Given the description of an element on the screen output the (x, y) to click on. 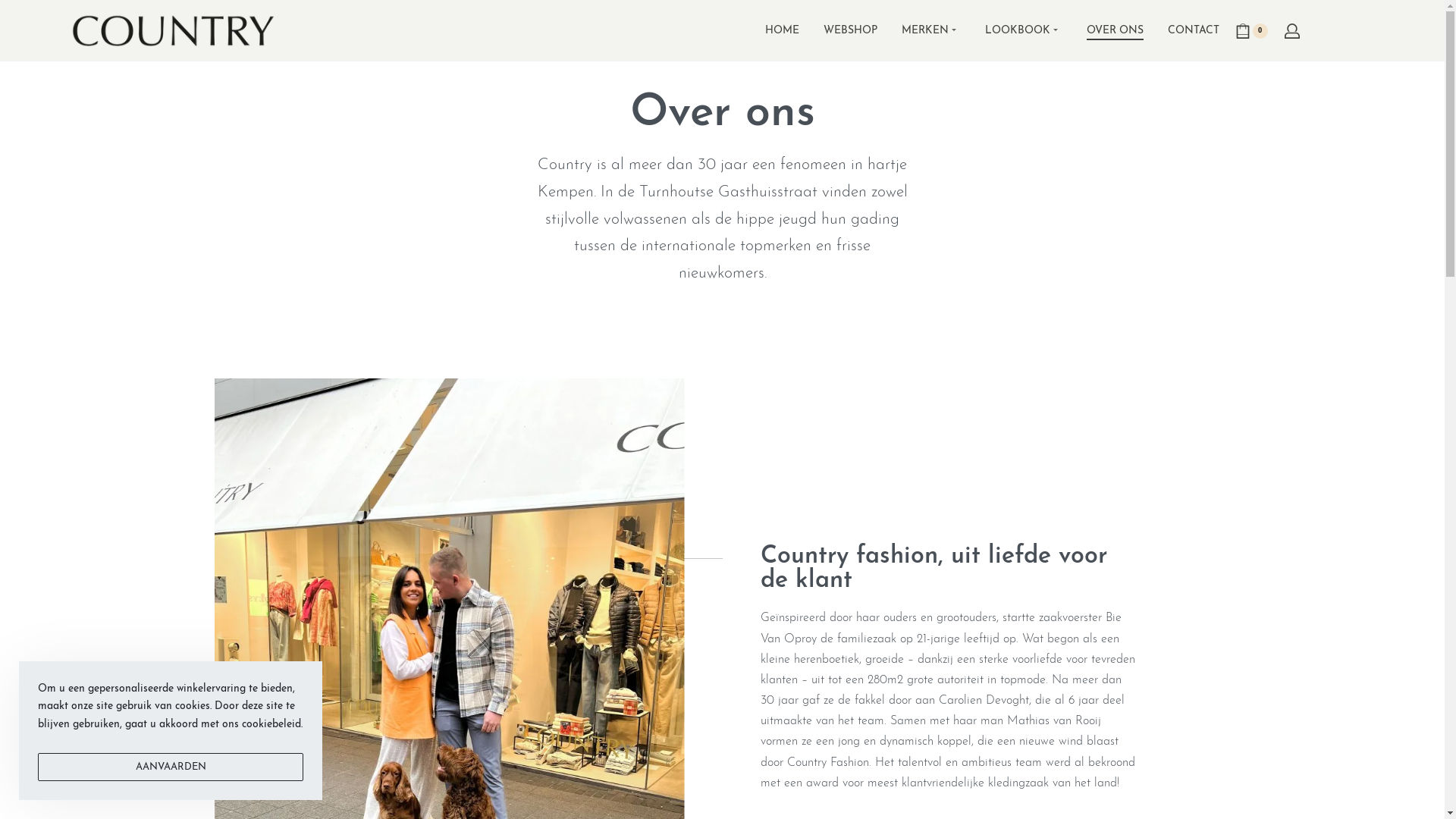
AANVAARDEN Element type: text (170, 767)
CONTACT Element type: text (1193, 30)
0 Element type: text (1251, 30)
OVER ONS Element type: text (1113, 30)
MERKEN Element type: text (930, 30)
WEBSHOP Element type: text (850, 30)
LOOKBOOK Element type: text (1022, 30)
HOME Element type: text (781, 30)
